Given the description of an element on the screen output the (x, y) to click on. 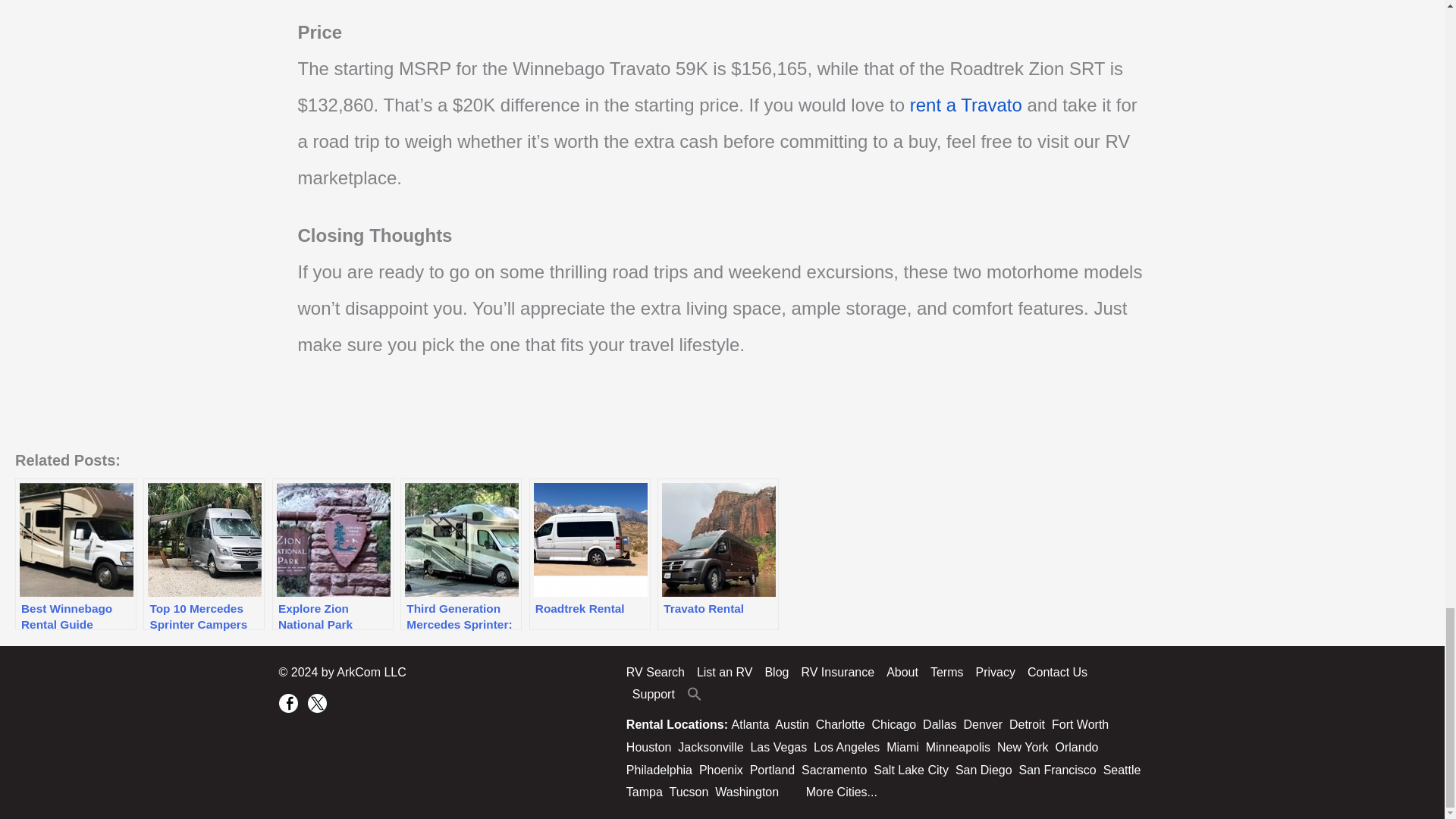
RV Search (658, 671)
rent a Travato (966, 105)
Dallas RV Rental (939, 724)
Privacy (994, 671)
Austin (791, 724)
Contact Us (1057, 671)
Atlanta RV Rental (751, 724)
Terms (946, 671)
Charlotte (839, 724)
RV Insurance (837, 671)
